Given the description of an element on the screen output the (x, y) to click on. 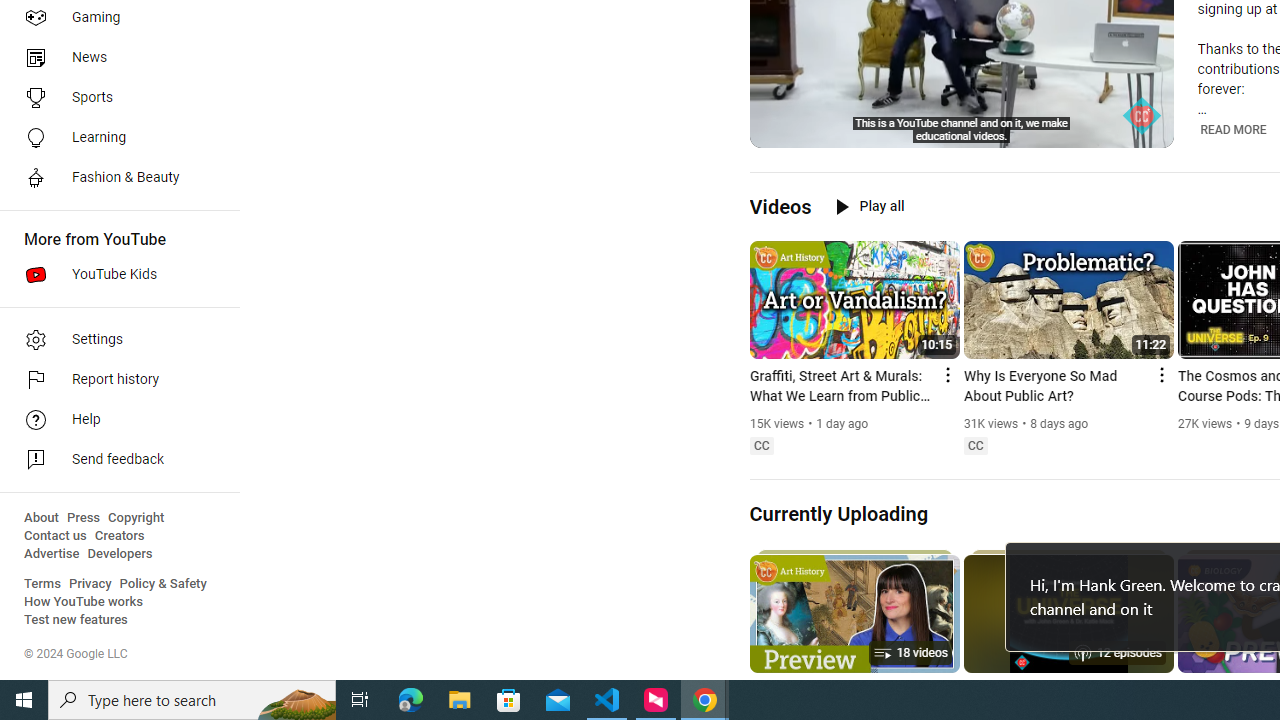
READ MORE (1232, 129)
About (41, 518)
Closed captions (975, 446)
Send feedback (113, 459)
Currently Uploading (838, 513)
Policy & Safety (163, 584)
Test new features (76, 620)
